Given the description of an element on the screen output the (x, y) to click on. 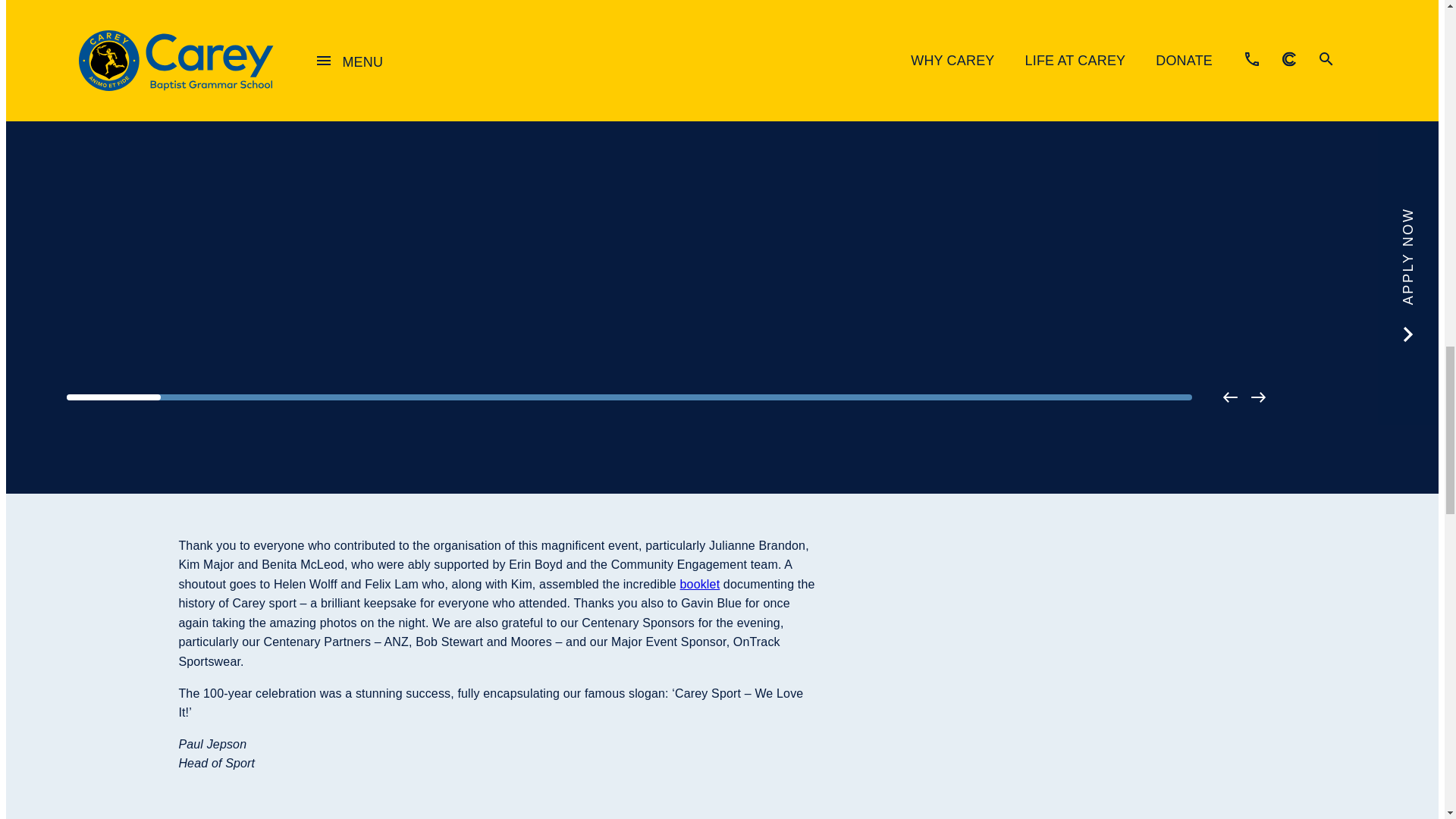
booklet (699, 584)
